Given the description of an element on the screen output the (x, y) to click on. 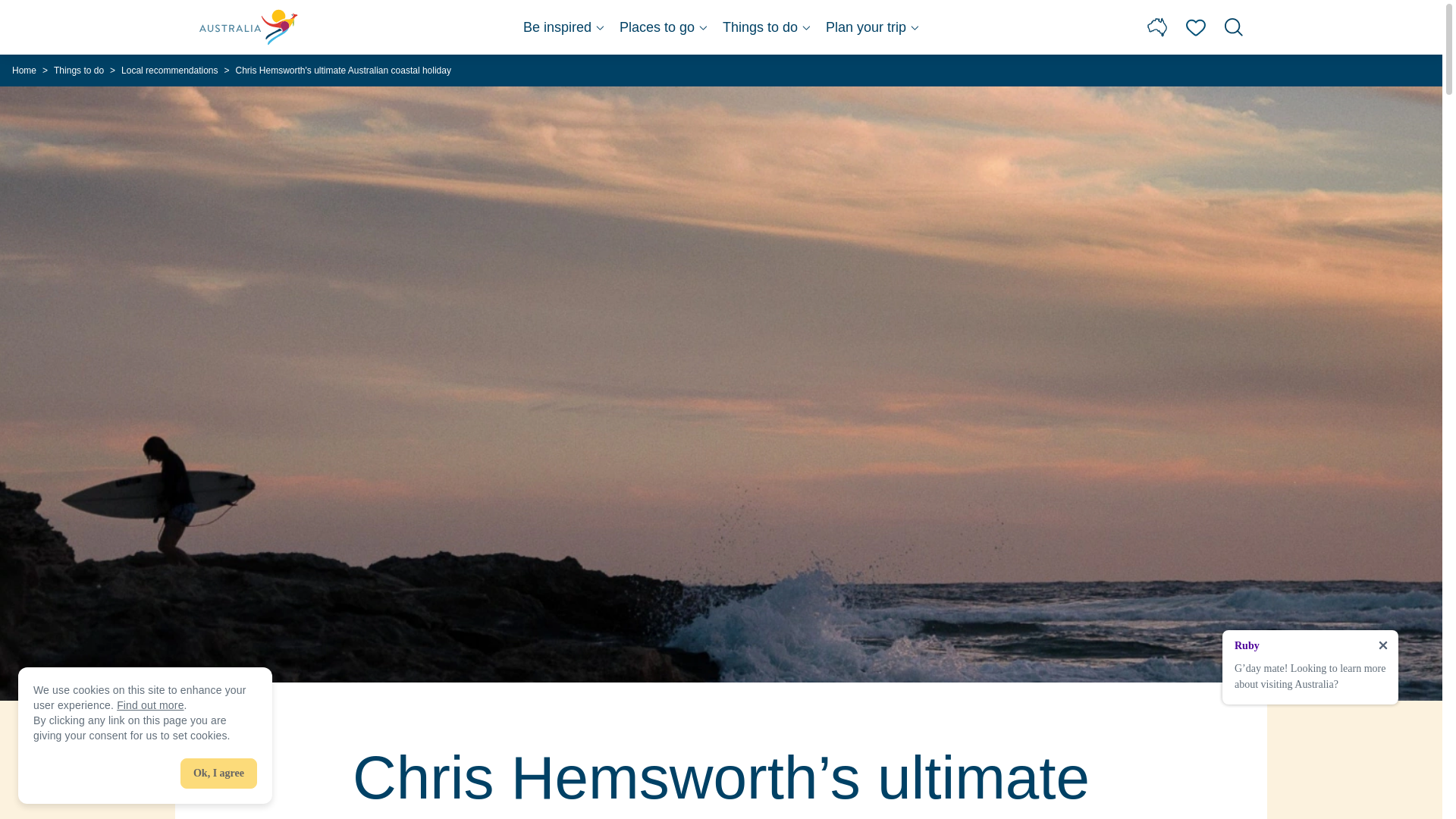
Australia (248, 27)
Be inspired (563, 27)
Things to do (766, 27)
Places to go (663, 27)
Plan your trip (871, 27)
